Given the description of an element on the screen output the (x, y) to click on. 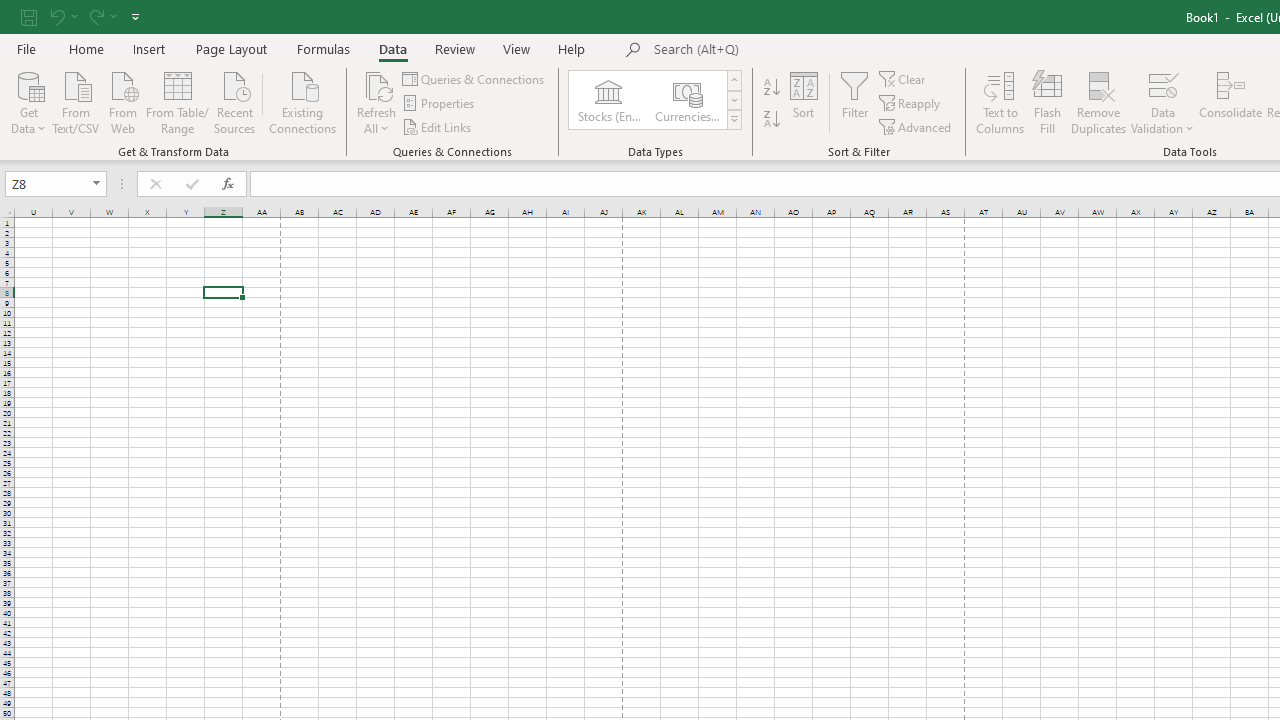
Clear (903, 78)
